Given the description of an element on the screen output the (x, y) to click on. 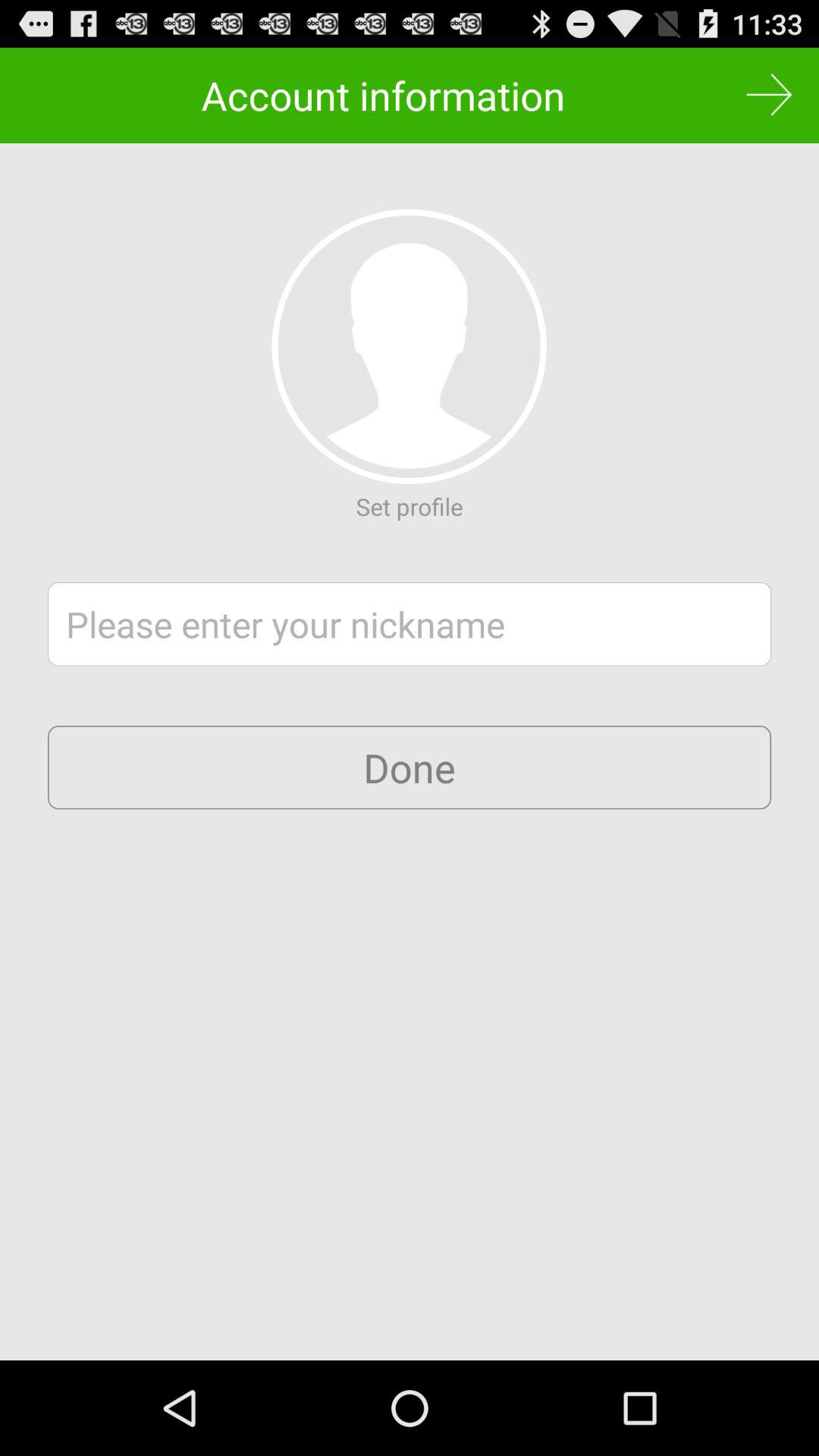
nickname entry (409, 624)
